Given the description of an element on the screen output the (x, y) to click on. 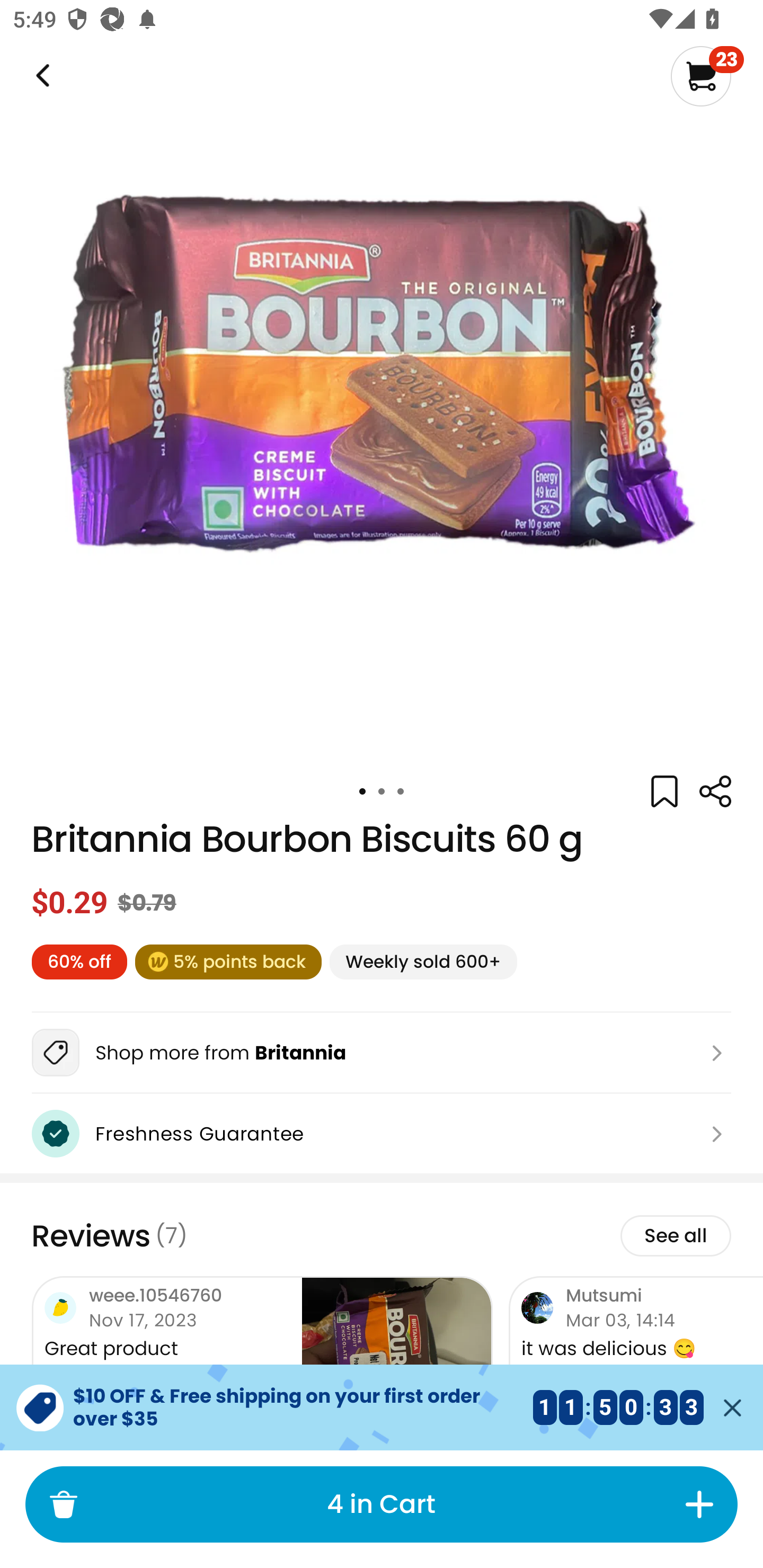
Weee! (41, 75)
23 (706, 75)
Weee! (714, 791)
Shop more from Britannia Weee! (381, 1052)
Freshness Guarantee (381, 1133)
Reviews (7) See all (381, 1236)
4 in Cart (380, 1504)
